Given the description of an element on the screen output the (x, y) to click on. 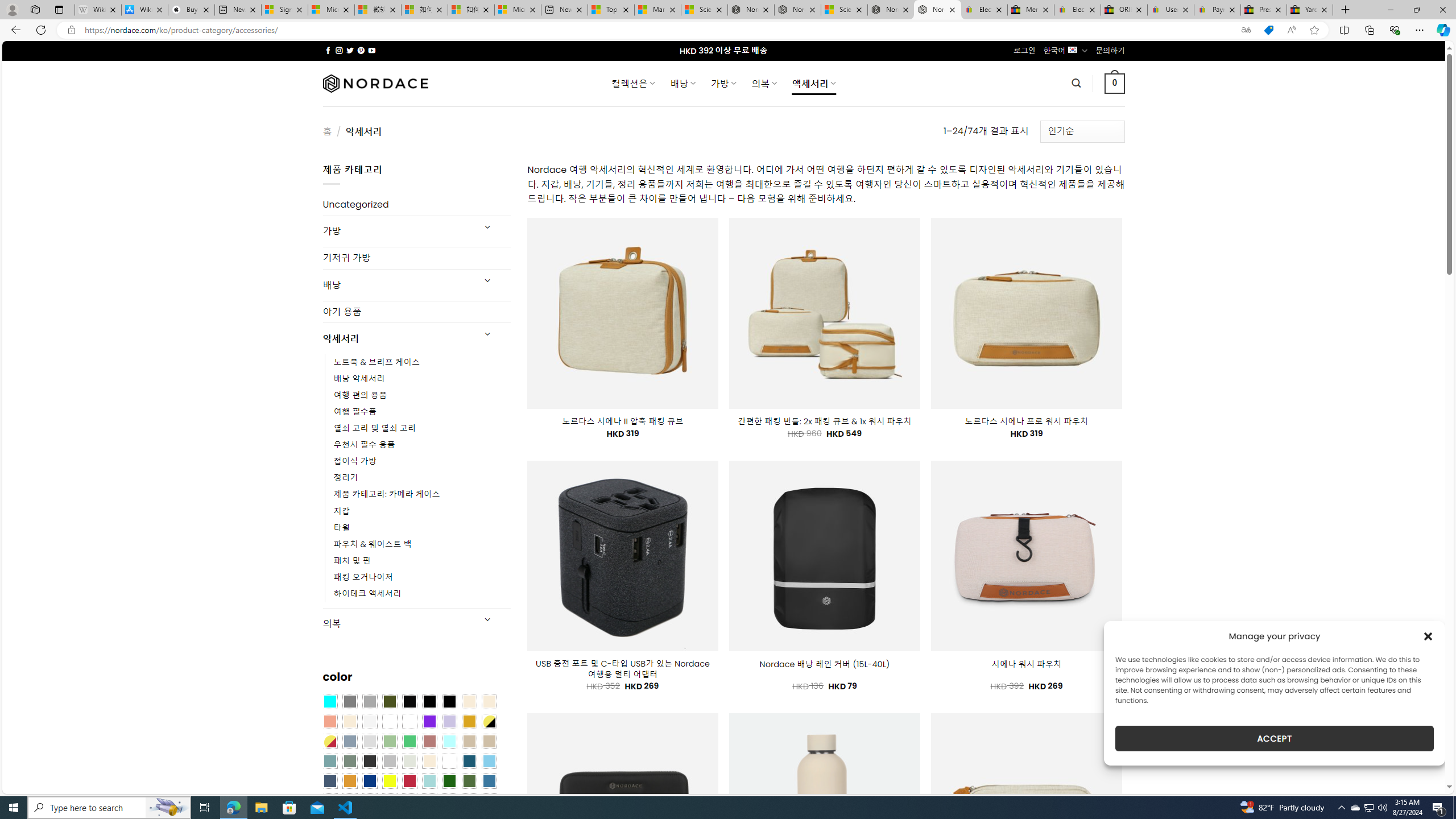
Cream (349, 721)
